Given the description of an element on the screen output the (x, y) to click on. 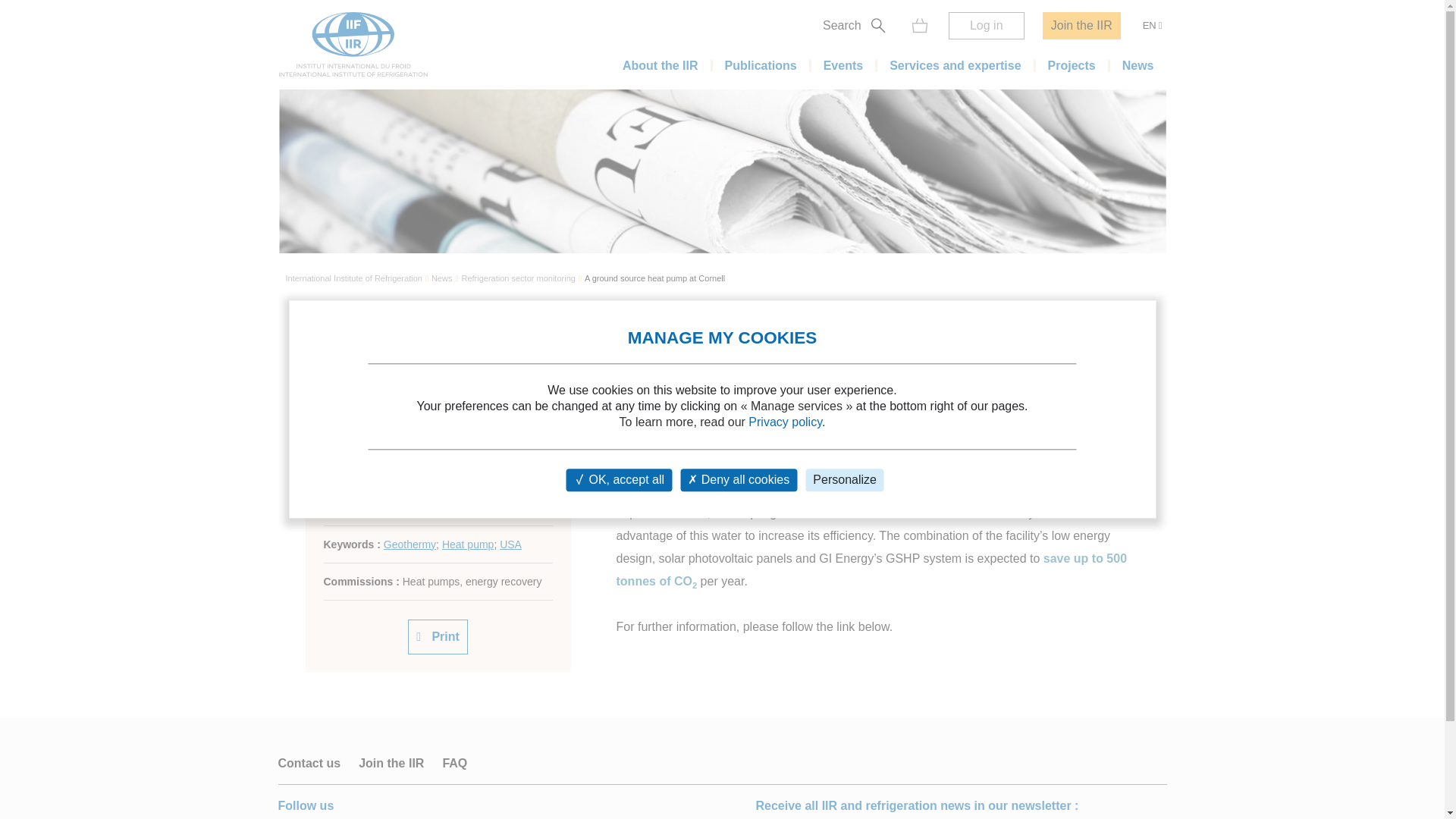
Search (1091, 44)
Join the IIR (1081, 25)
Search (856, 25)
International Institute of Refrigeration (353, 278)
EN (1152, 25)
